Given the description of an element on the screen output the (x, y) to click on. 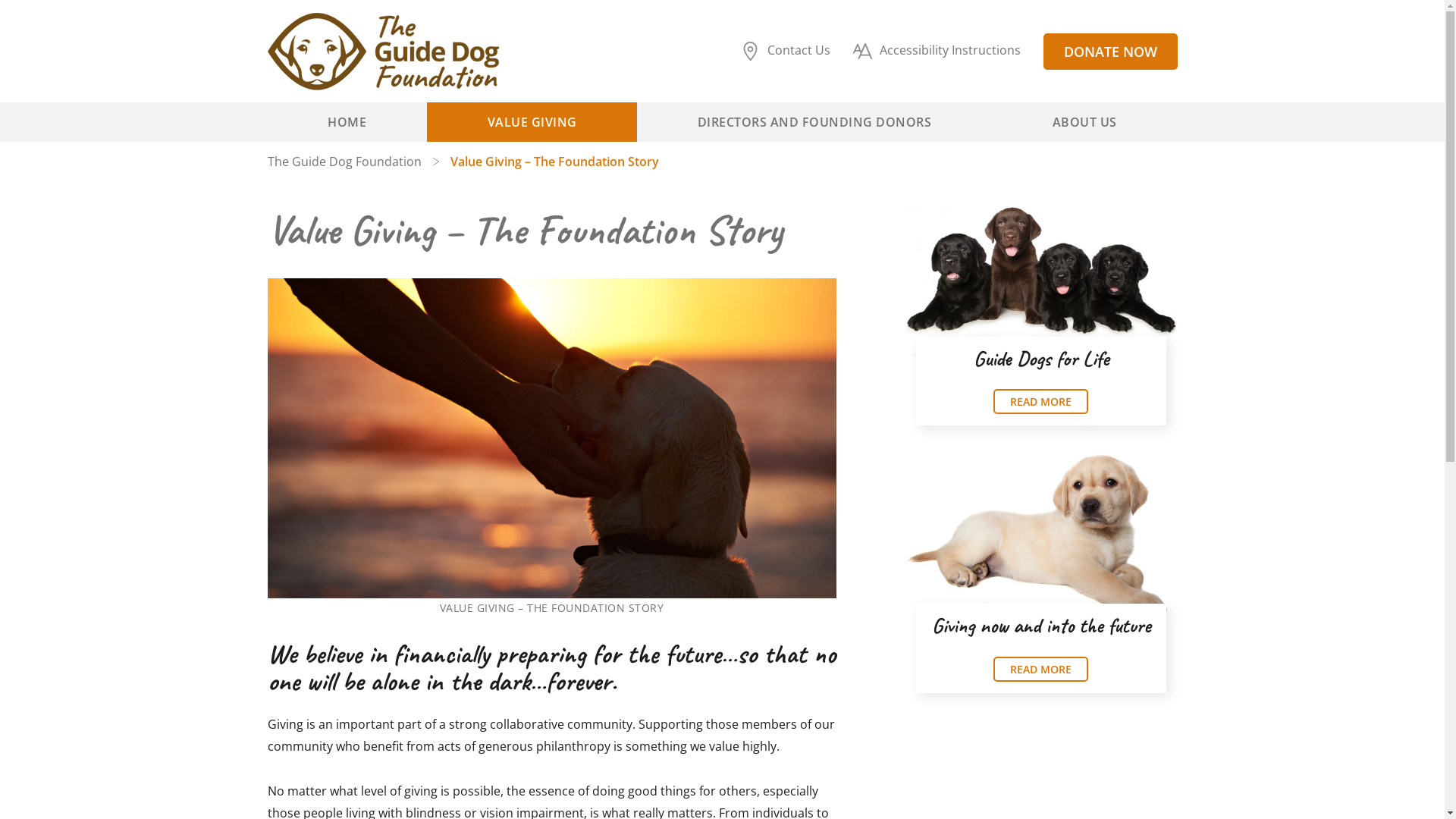
The Guide Dog Foundation Element type: text (382, 51)
Accessibility Instructions Element type: text (947, 50)
DONATE NOW Element type: text (1110, 51)
HOME Element type: text (346, 121)
Guide Dogs for Life Element type: text (1040, 358)
Contact Us Element type: text (796, 50)
VALUE GIVING Element type: text (531, 121)
READ MORE Element type: text (1040, 668)
READ MORE Element type: text (1040, 401)
Giving now and into the future Element type: text (1040, 624)
ABOUT US Element type: text (1083, 121)
The Guide Dog Foundation Element type: text (357, 161)
DIRECTORS AND FOUNDING DONORS Element type: text (814, 121)
